Given the description of an element on the screen output the (x, y) to click on. 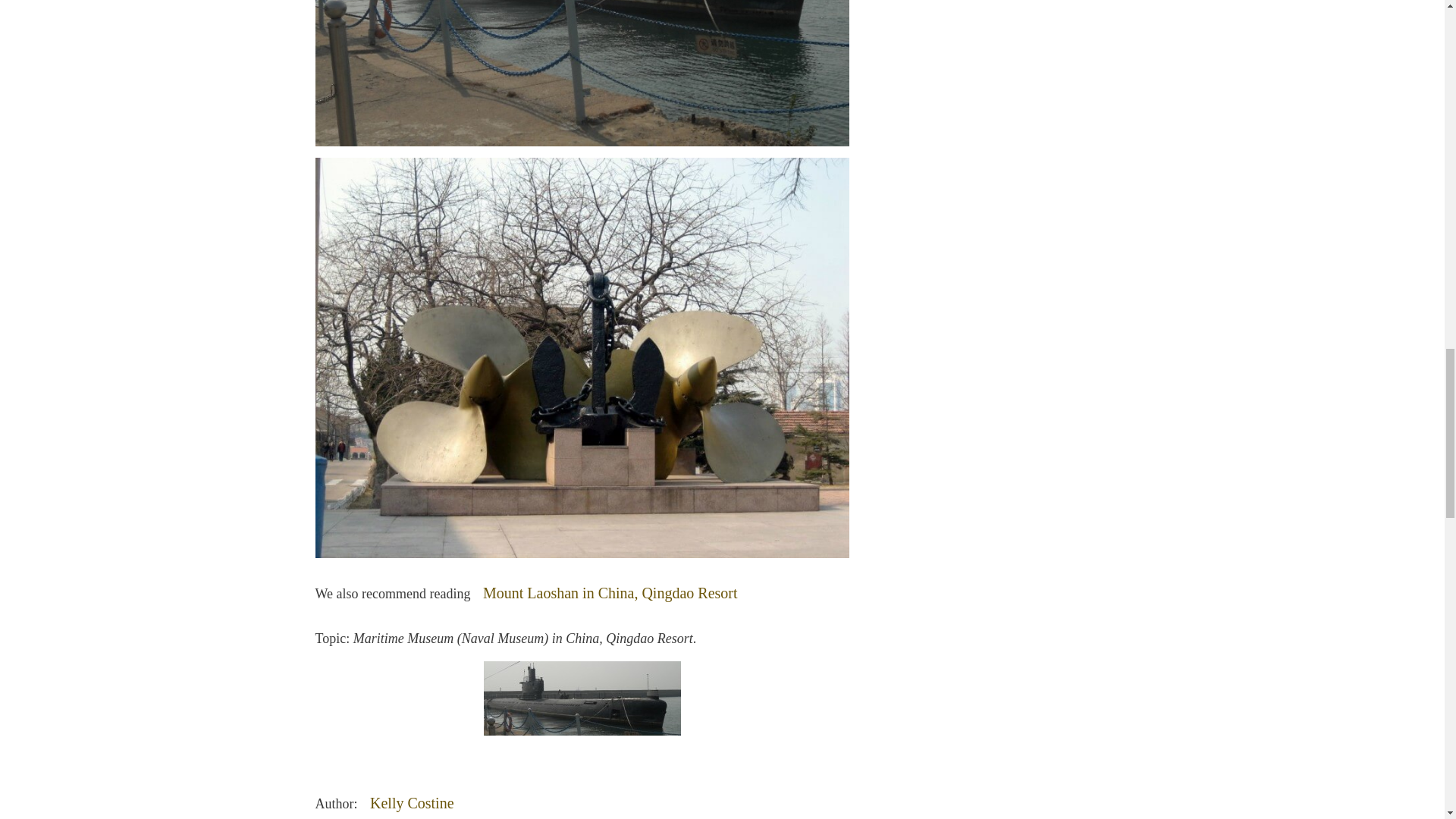
Kelly Costine (412, 800)
Mount Laoshan in China, Qingdao Resort (610, 592)
